Given the description of an element on the screen output the (x, y) to click on. 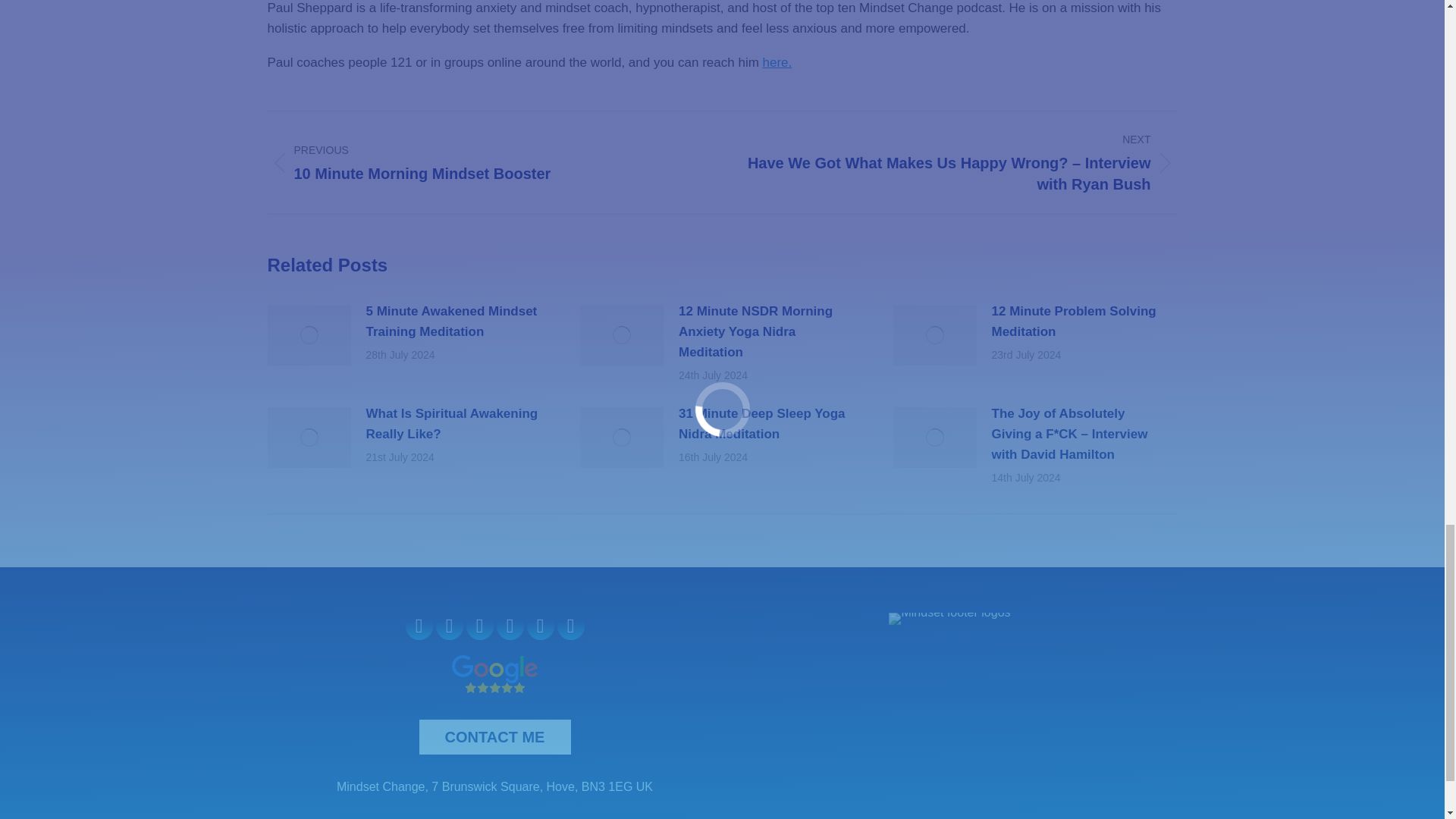
Podcast (539, 625)
here. (777, 62)
Instagram (479, 625)
5 Minute Awakened Mindset Training Meditation (453, 321)
facebook (418, 625)
You Tube (482, 162)
LinkedIn (509, 625)
